Given the description of an element on the screen output the (x, y) to click on. 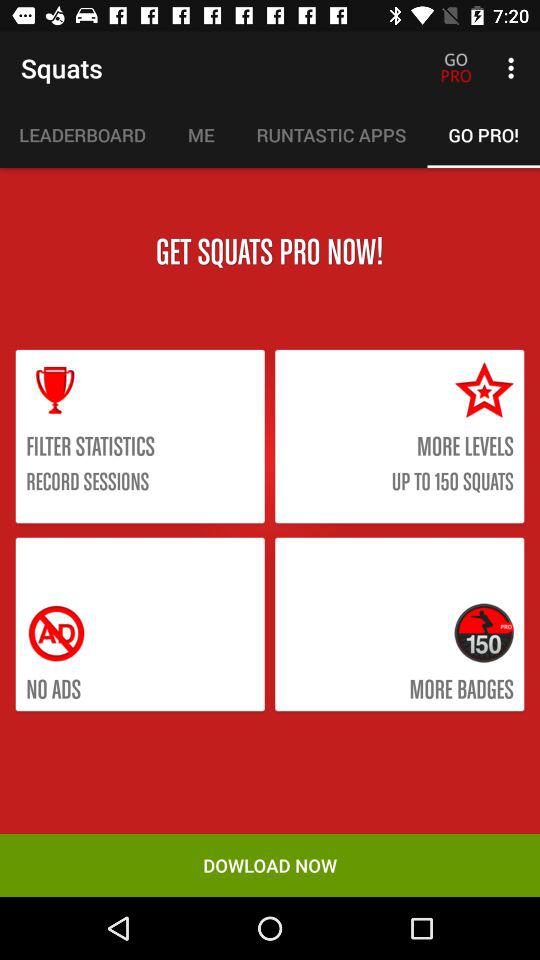
press item next to the me icon (331, 135)
